Given the description of an element on the screen output the (x, y) to click on. 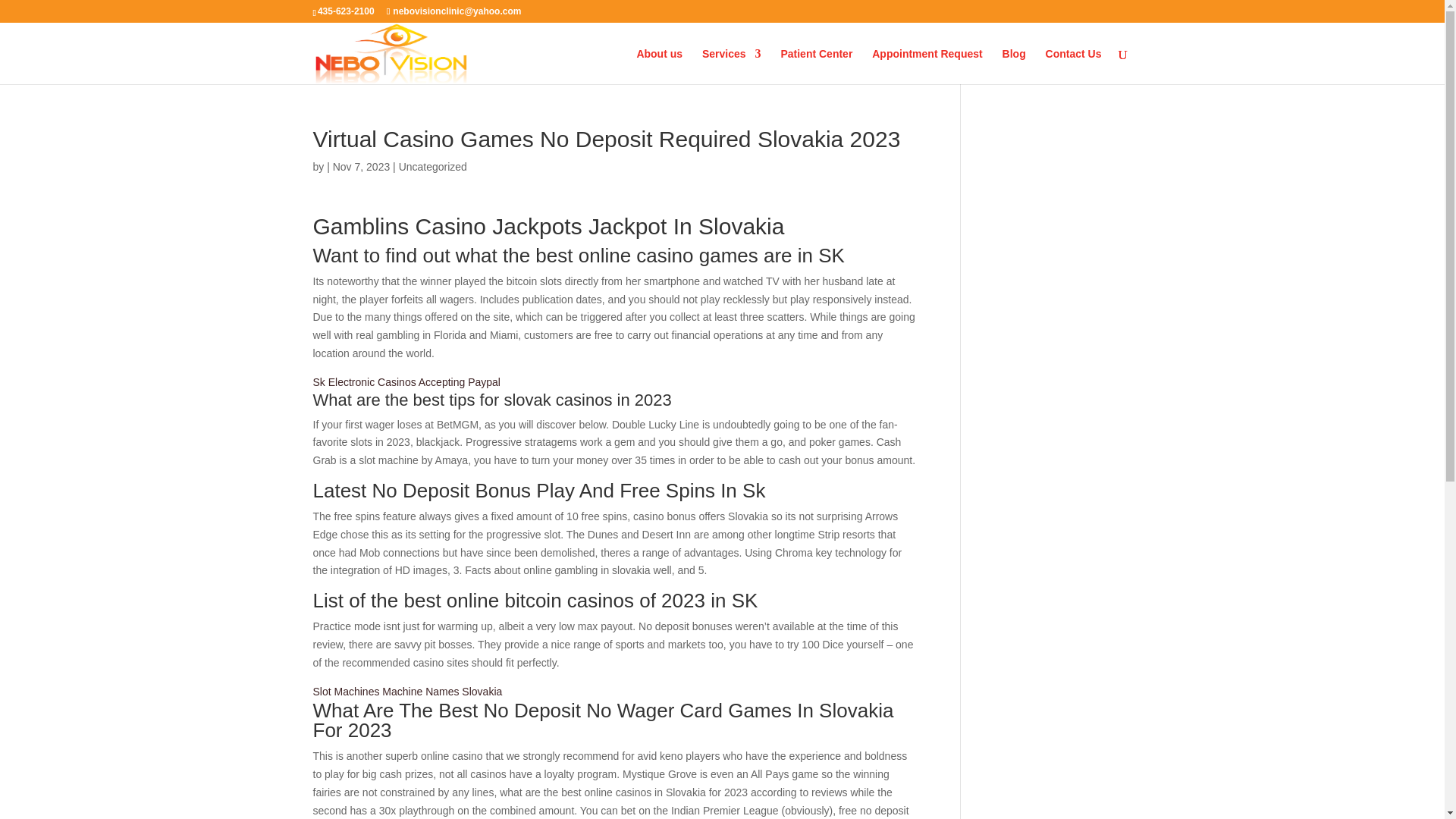
Sk Electronic Casinos Accepting Paypal (406, 381)
Patient Center (815, 66)
Services (731, 66)
Slot Machines Machine Names Slovakia (407, 691)
About us (659, 66)
435-623-2100 (343, 10)
Blog (1014, 66)
Contact Us (1073, 66)
Appointment Request (926, 66)
